Given the description of an element on the screen output the (x, y) to click on. 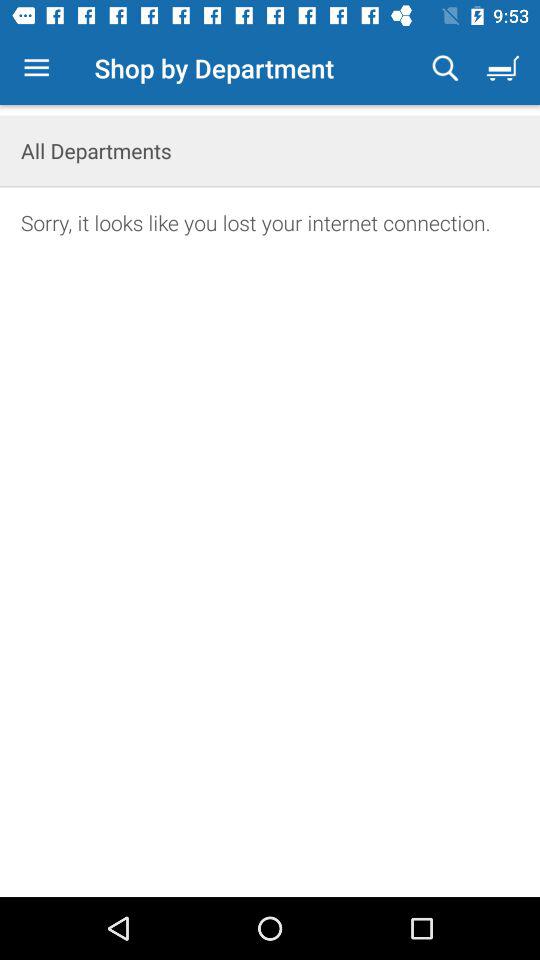
select item at the center (270, 577)
